Given the description of an element on the screen output the (x, y) to click on. 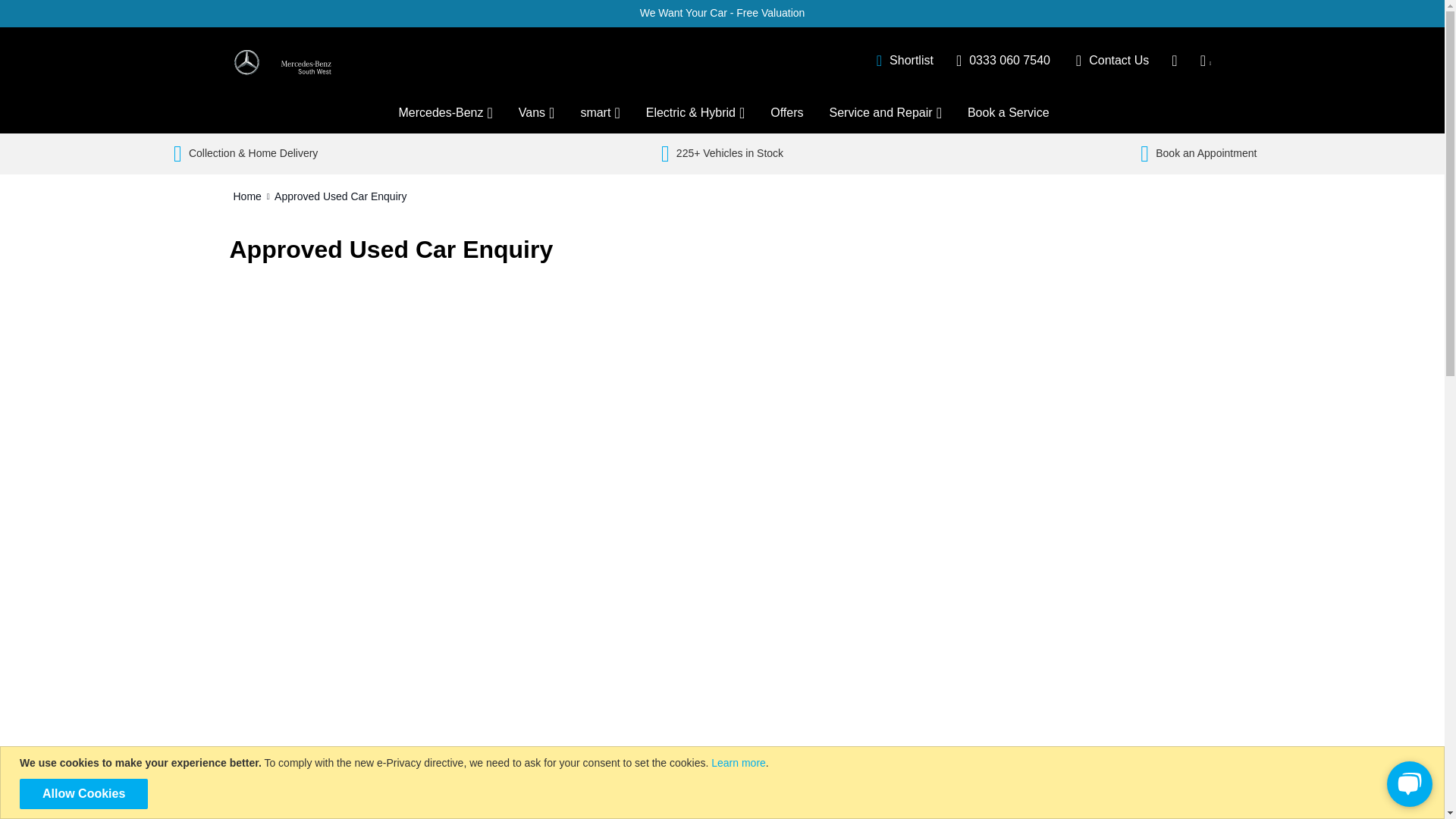
Learn more (738, 762)
We Want Your Car - Free Valuation (722, 12)
Mercedes-Benz (443, 113)
0333 060 7540 (1002, 59)
Allow Cookies (84, 793)
Shortlist (904, 59)
Contact Us (1111, 59)
